Given the description of an element on the screen output the (x, y) to click on. 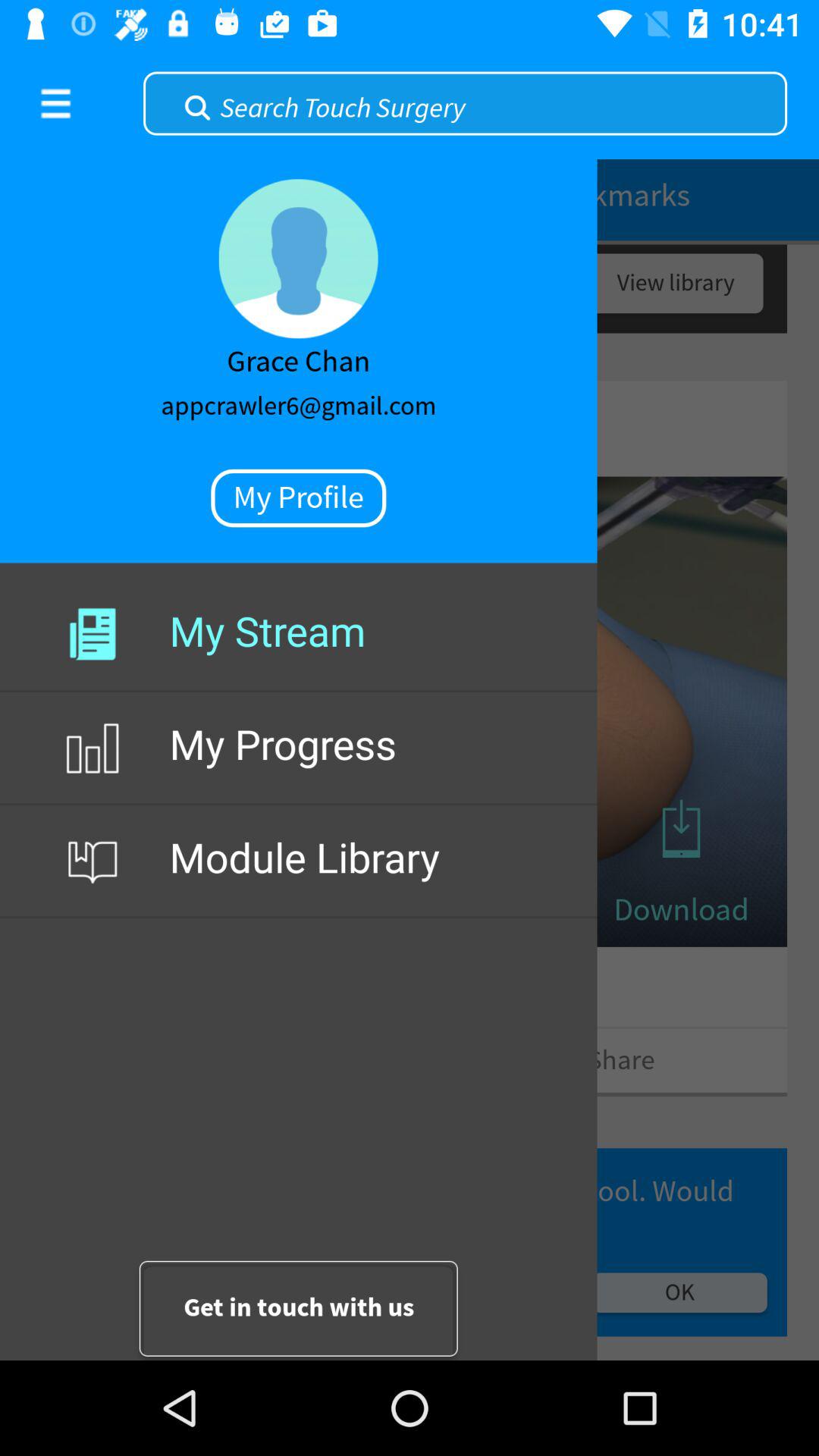
click on ok (679, 1292)
